Given the description of an element on the screen output the (x, y) to click on. 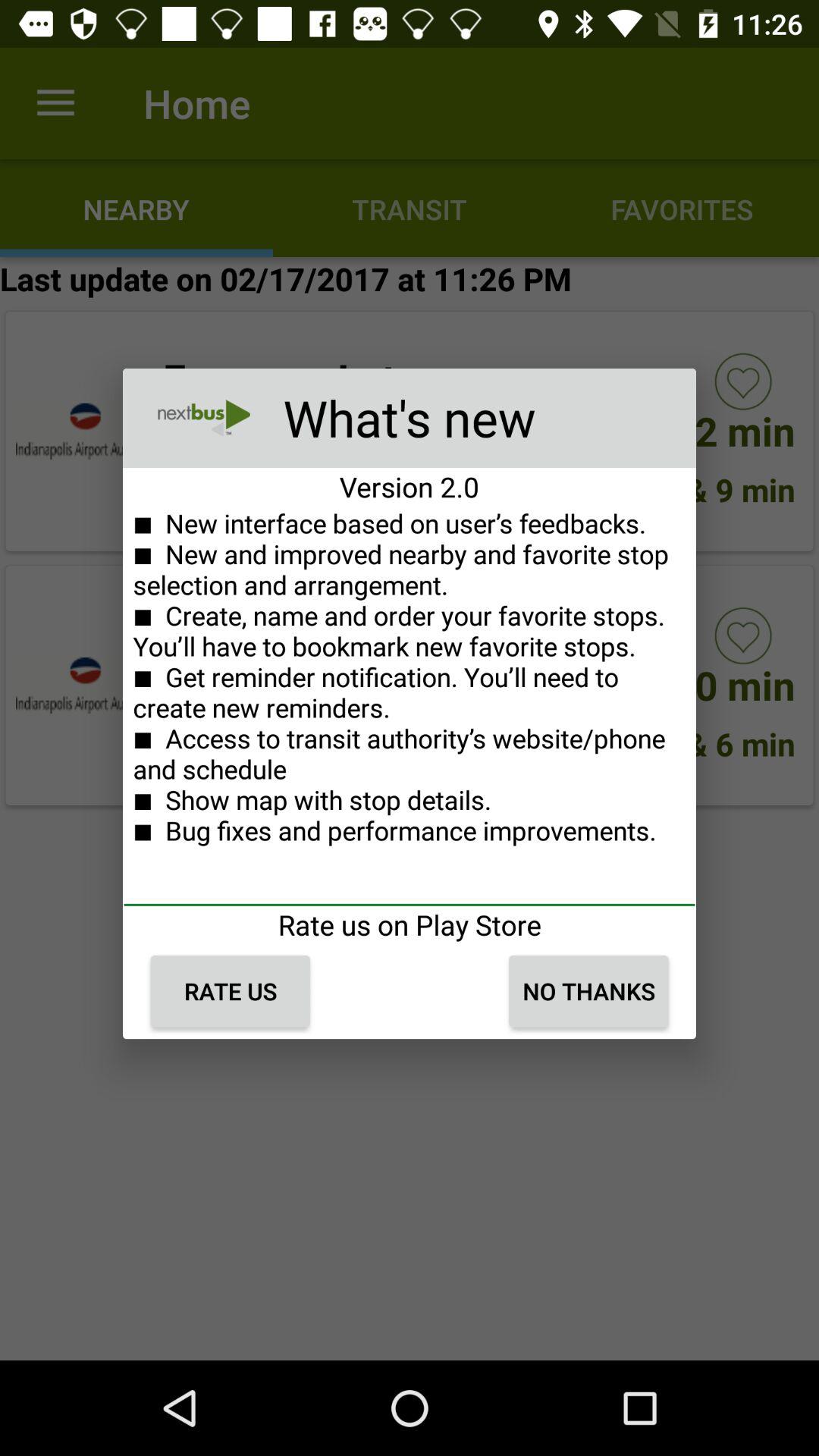
flip until the no thanks item (588, 991)
